Given the description of an element on the screen output the (x, y) to click on. 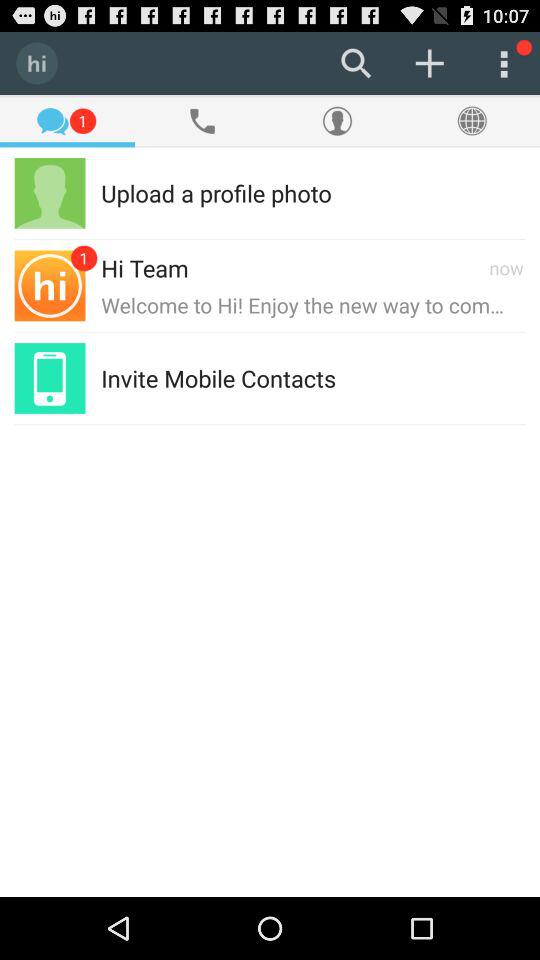
scroll until upload a profile app (216, 192)
